Given the description of an element on the screen output the (x, y) to click on. 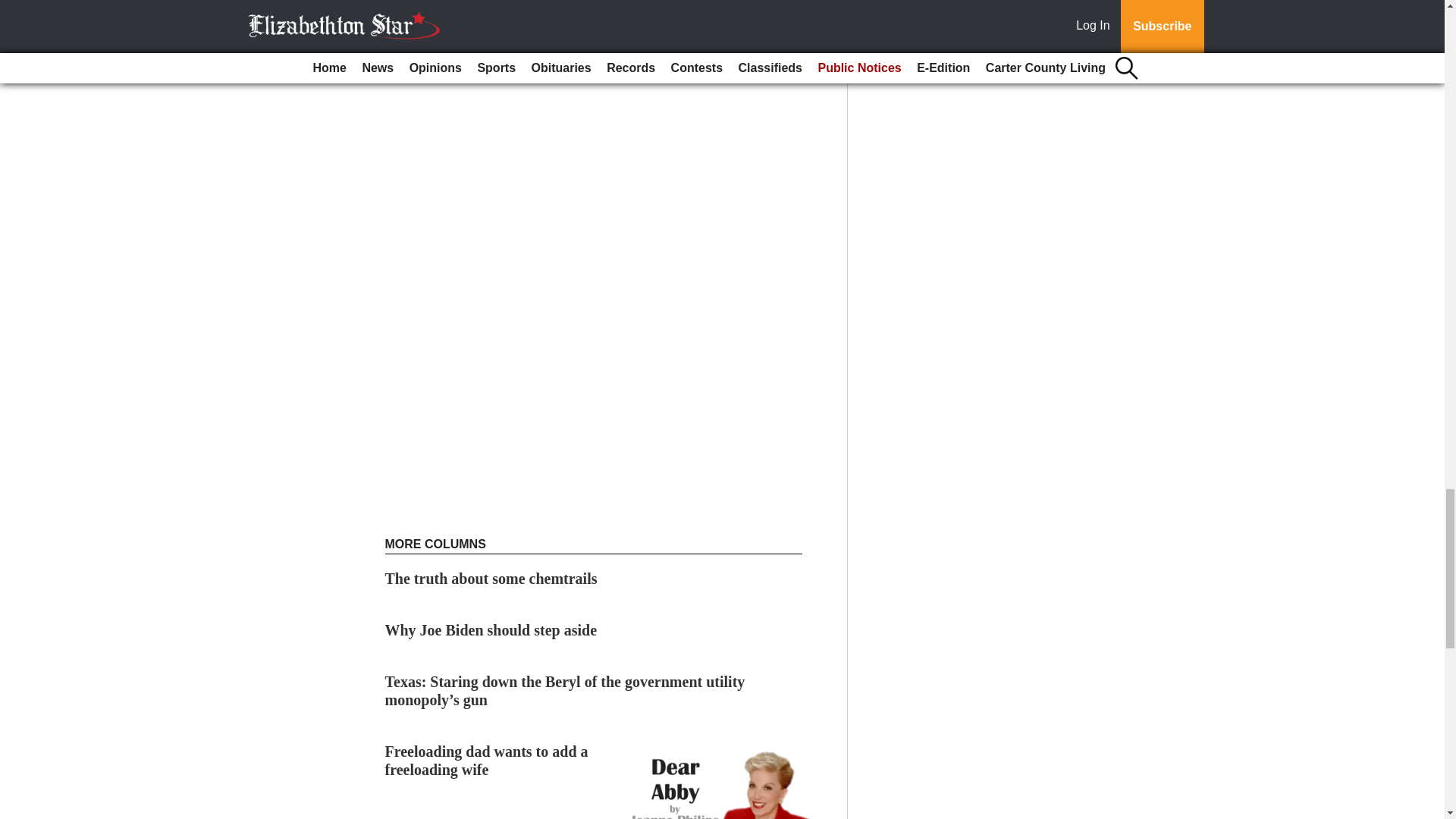
The truth about some chemtrails (490, 578)
Freeloading dad wants to add a freeloading wife (486, 760)
Subscribe (434, 67)
Subscribe (434, 67)
Why Joe Biden should step aside (490, 629)
Freeloading dad wants to add a freeloading wife (486, 760)
The truth about some chemtrails (490, 578)
Why Joe Biden should step aside (490, 629)
